Given the description of an element on the screen output the (x, y) to click on. 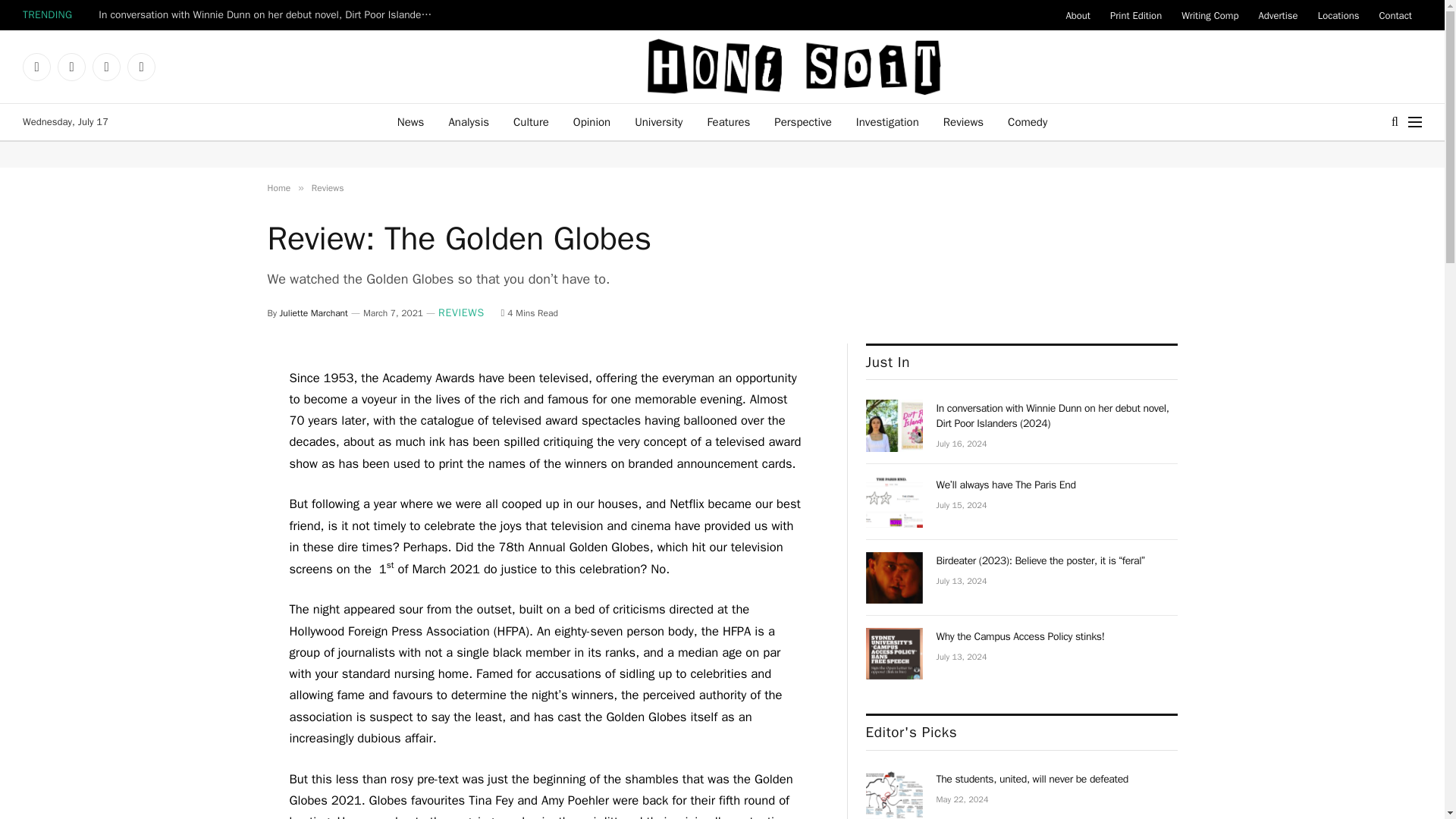
Writing Comp (1209, 15)
TikTok (141, 67)
Contact (1395, 15)
Honi Soit (793, 66)
Culture (530, 122)
Facebook (36, 67)
Print Edition (1136, 15)
Locations (1338, 15)
Reviews (327, 187)
Opinion (591, 122)
Analysis (467, 122)
Posts by Juliette Marchant (313, 313)
About (1077, 15)
Home (277, 187)
Features (727, 122)
